Given the description of an element on the screen output the (x, y) to click on. 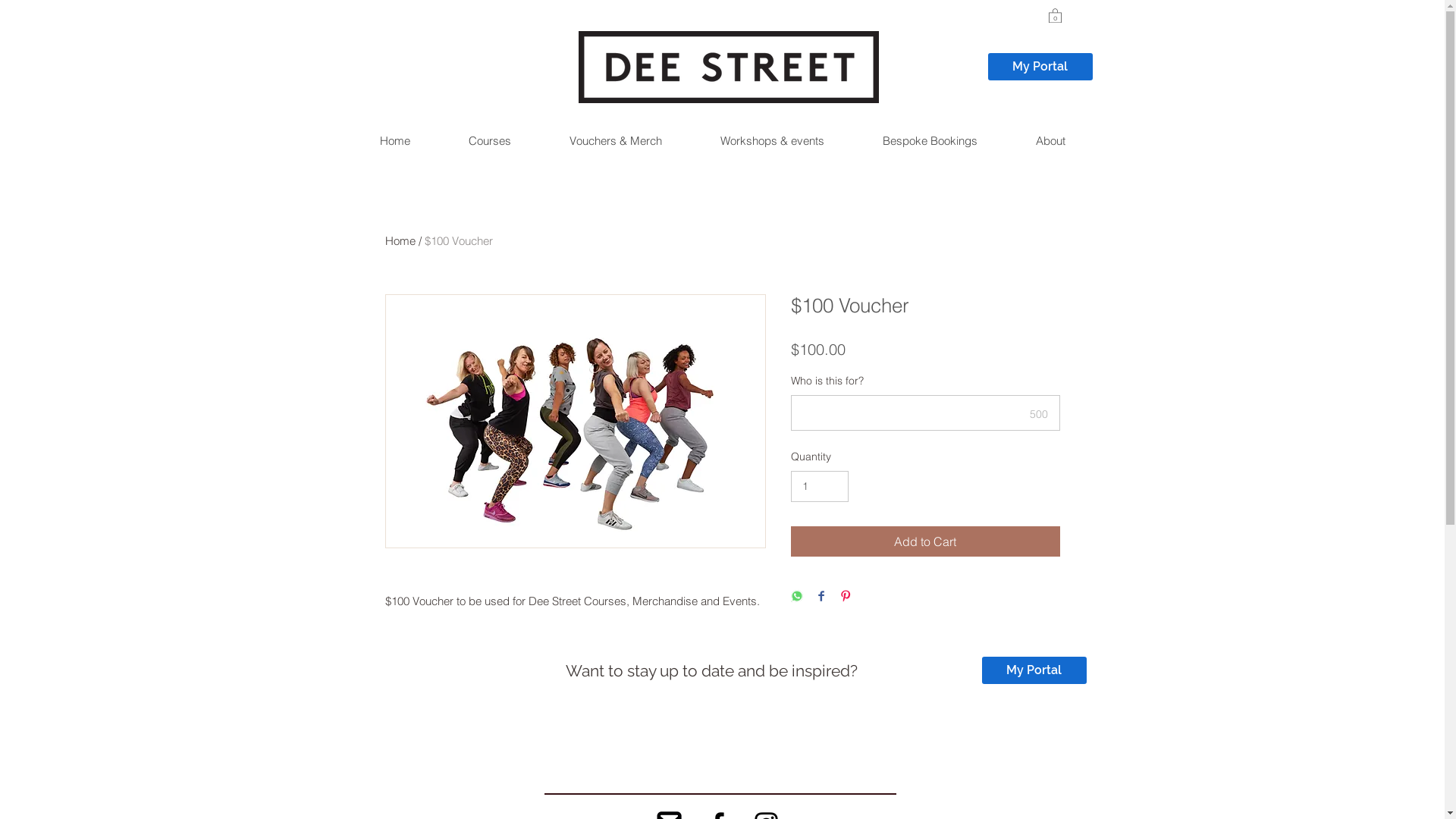
My Portal Element type: text (1039, 66)
0 Element type: text (1054, 14)
Workshops & events Element type: text (771, 140)
Courses Element type: text (488, 140)
My Portal Element type: text (1033, 670)
Embedded Content Element type: hover (700, 741)
$100 Voucher Element type: text (458, 240)
About Element type: text (1049, 140)
Vouchers & Merch Element type: text (614, 140)
Home Element type: text (394, 140)
Add to Cart Element type: text (924, 541)
Home Element type: text (400, 240)
Bespoke Bookings Element type: text (928, 140)
